Given the description of an element on the screen output the (x, y) to click on. 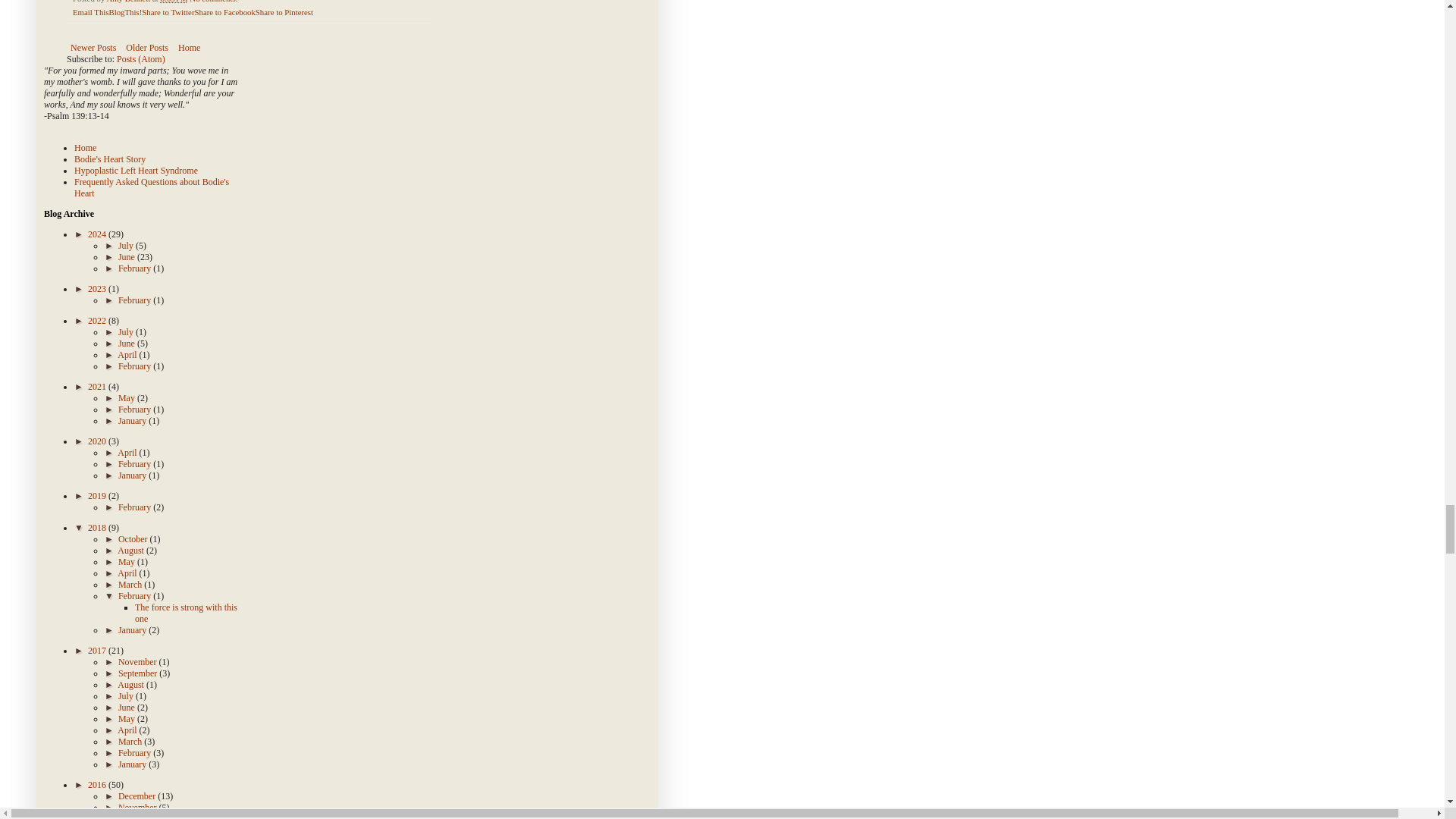
Amy Bennett (129, 1)
Older Posts (146, 47)
Older Posts (146, 47)
Share to Twitter (167, 11)
Share to Twitter (167, 11)
author profile (129, 1)
Share to Facebook (223, 11)
BlogThis! (124, 11)
Share to Facebook (223, 11)
No comments: (214, 1)
Email This (89, 11)
Email This (89, 11)
Share to Pinterest (284, 11)
Email Post (246, 1)
